Given the description of an element on the screen output the (x, y) to click on. 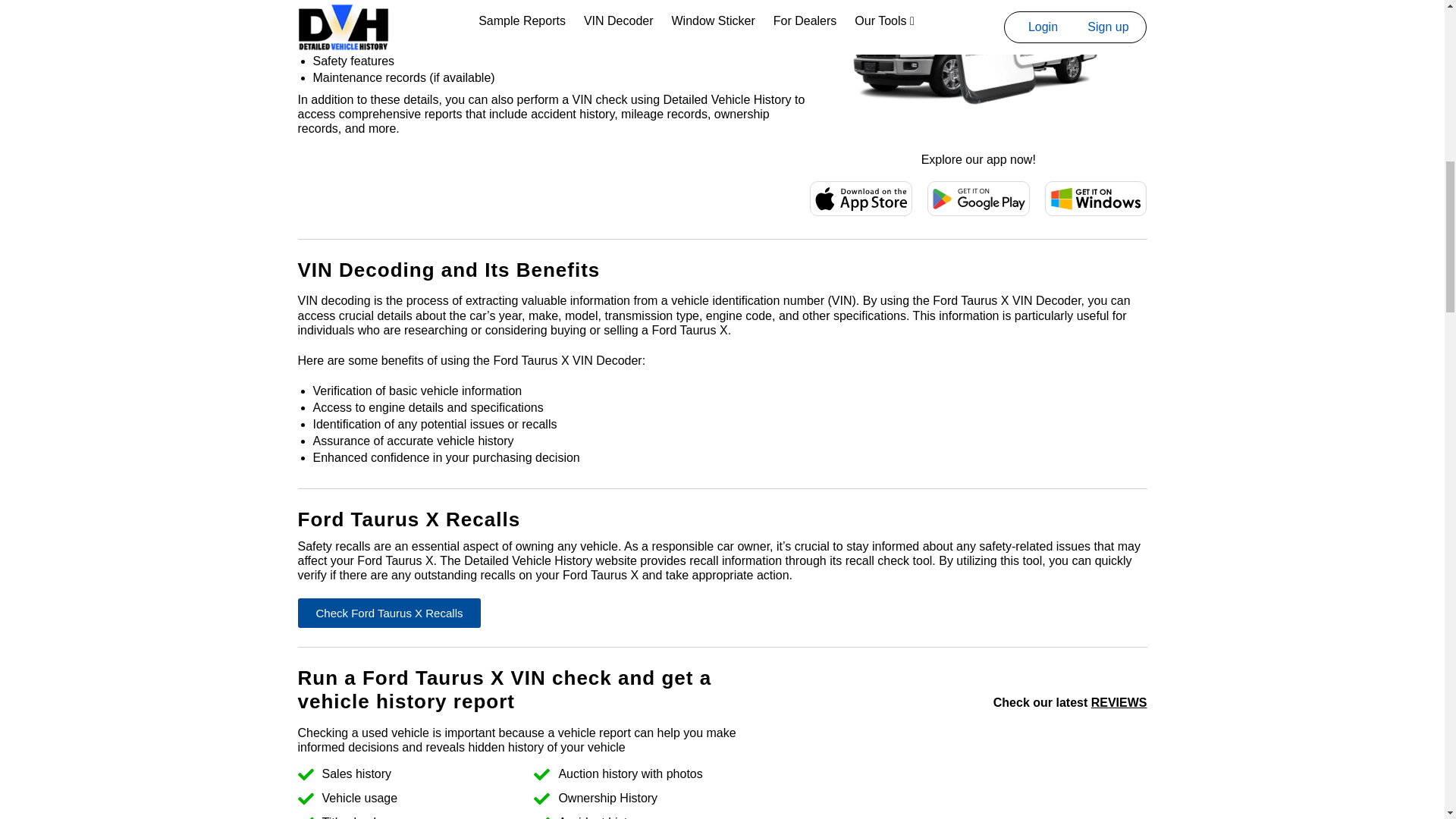
Check Ford Taurus X Recalls (388, 613)
